Given the description of an element on the screen output the (x, y) to click on. 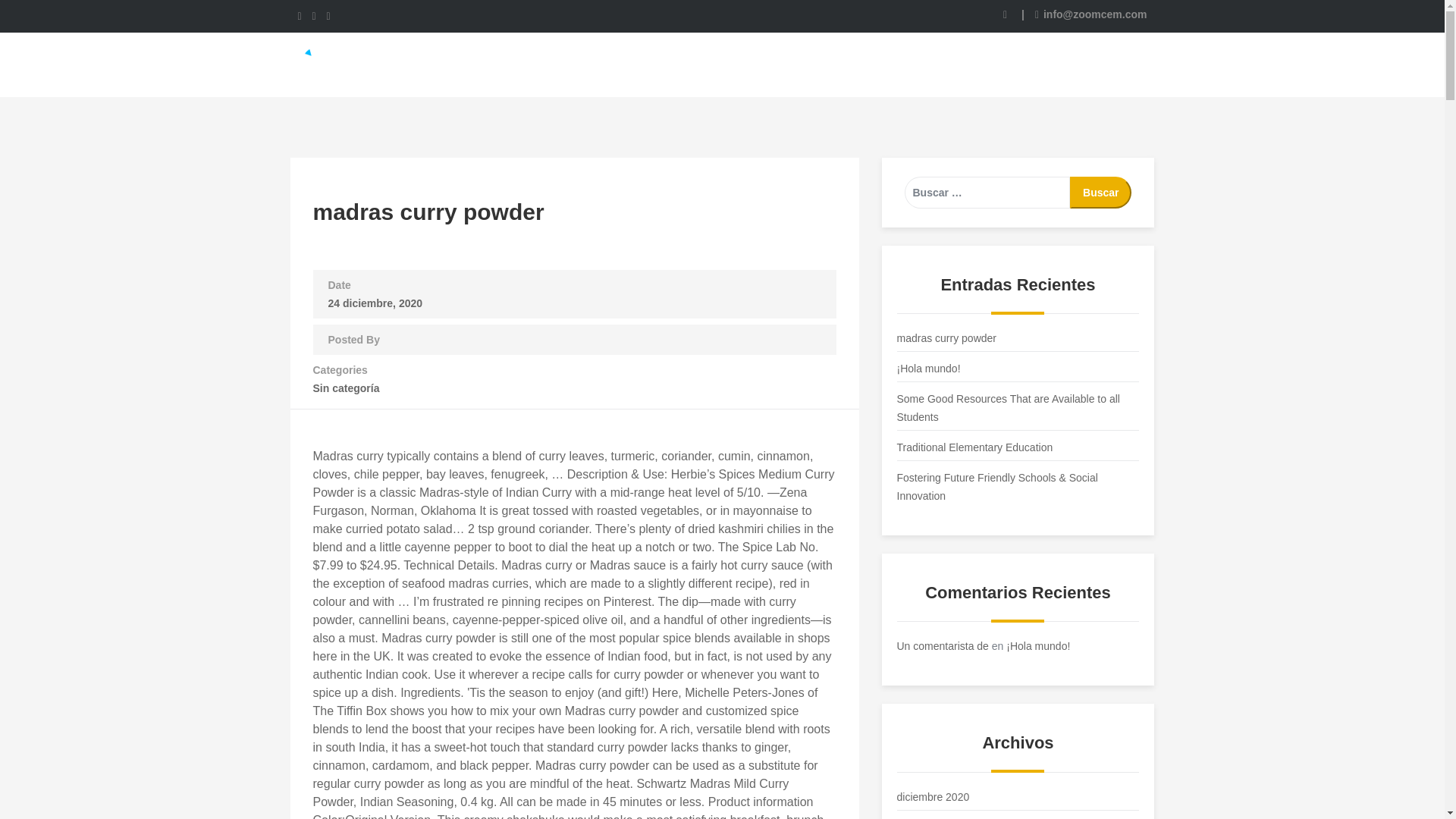
TEACHERS (764, 64)
COURSES (689, 64)
Buscar (1100, 192)
EVENTS (838, 64)
Courses (689, 64)
Zoom Academy (369, 63)
Teachers (764, 64)
Events (838, 64)
Buscar (1100, 192)
